Given the description of an element on the screen output the (x, y) to click on. 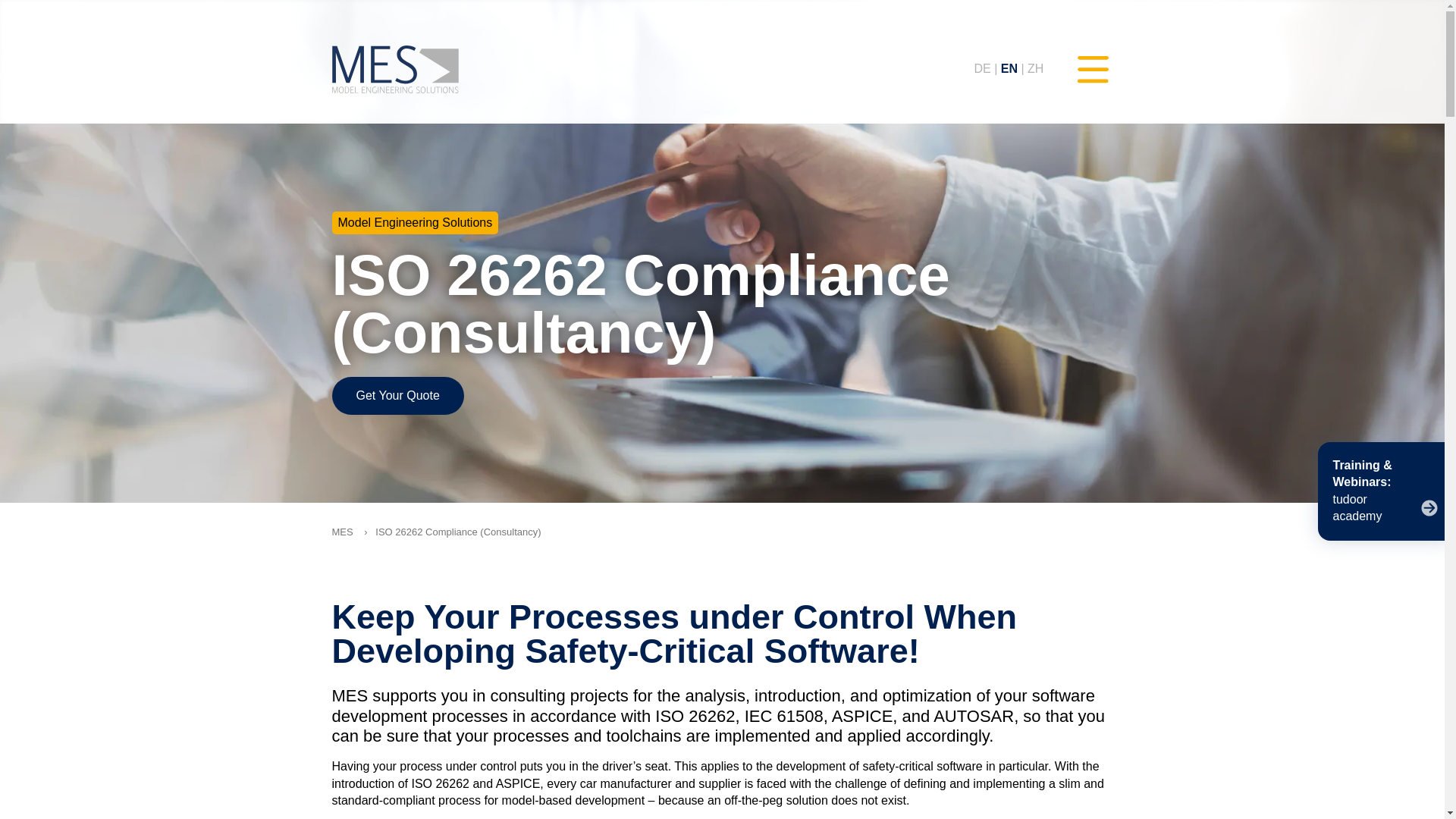
Get Your Quote (397, 395)
ZH (1035, 68)
MES (392, 69)
Get Your Quote (397, 395)
Go to tudoor academy Page (1384, 508)
DE (982, 68)
tudoor academy (1384, 508)
